Given the description of an element on the screen output the (x, y) to click on. 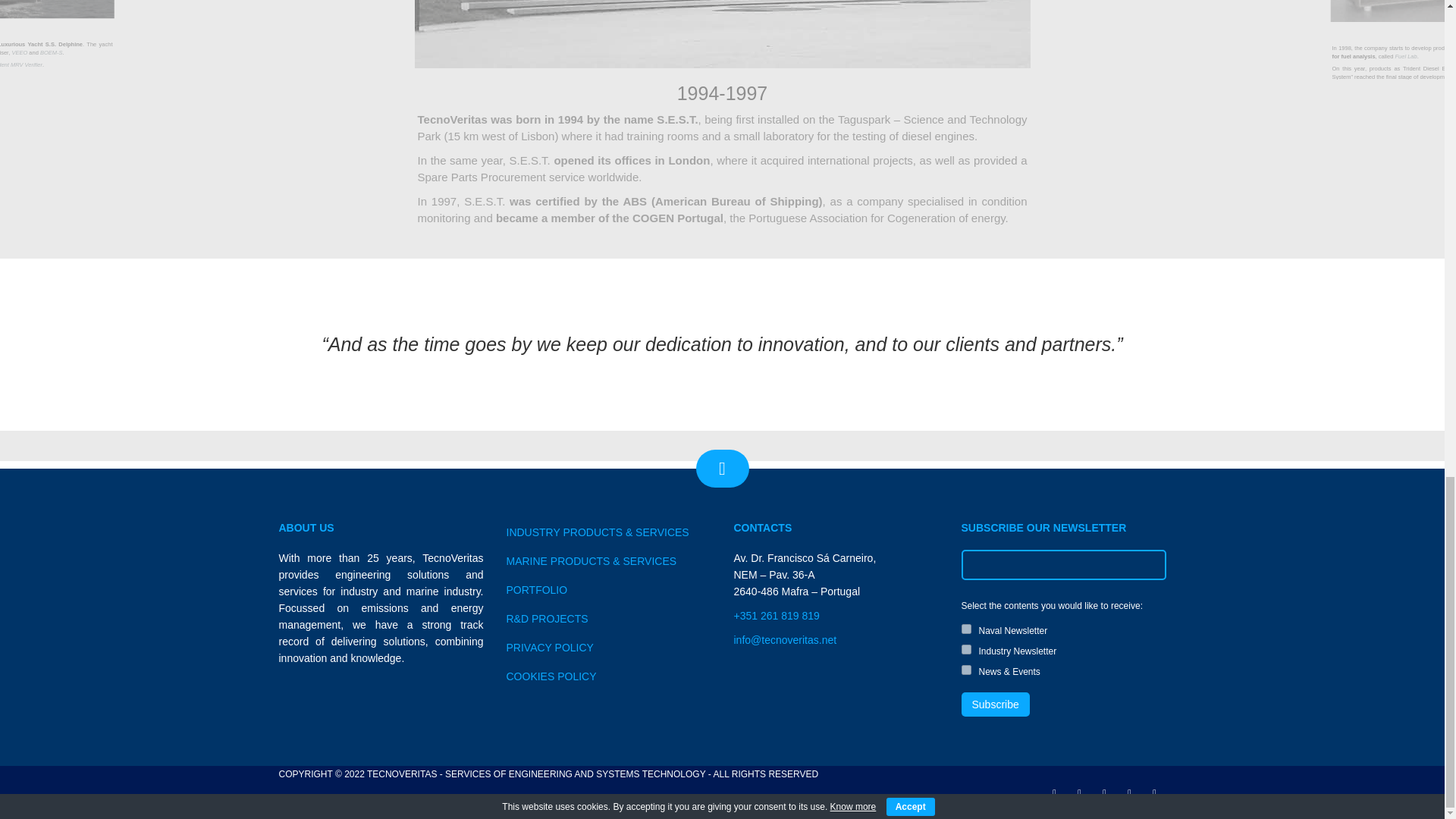
Y (965, 669)
Y (965, 628)
The Luxurious Yacht S.S. Delphine (265, 85)
Y (965, 649)
Subscribe (994, 704)
Taguspark, the first home of TecnoVeritas (721, 33)
